Given the description of an element on the screen output the (x, y) to click on. 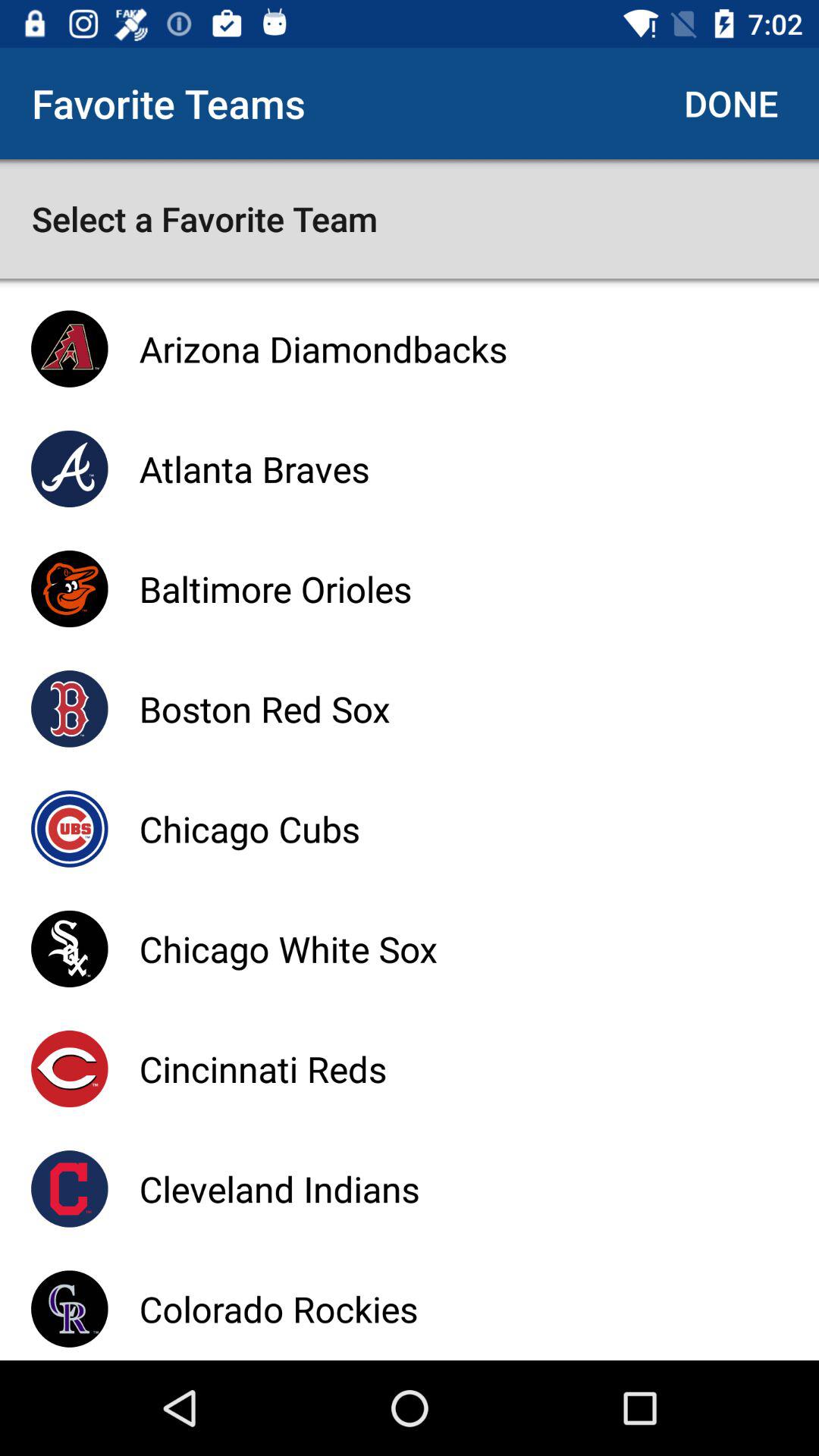
click app next to favorite teams (731, 103)
